Given the description of an element on the screen output the (x, y) to click on. 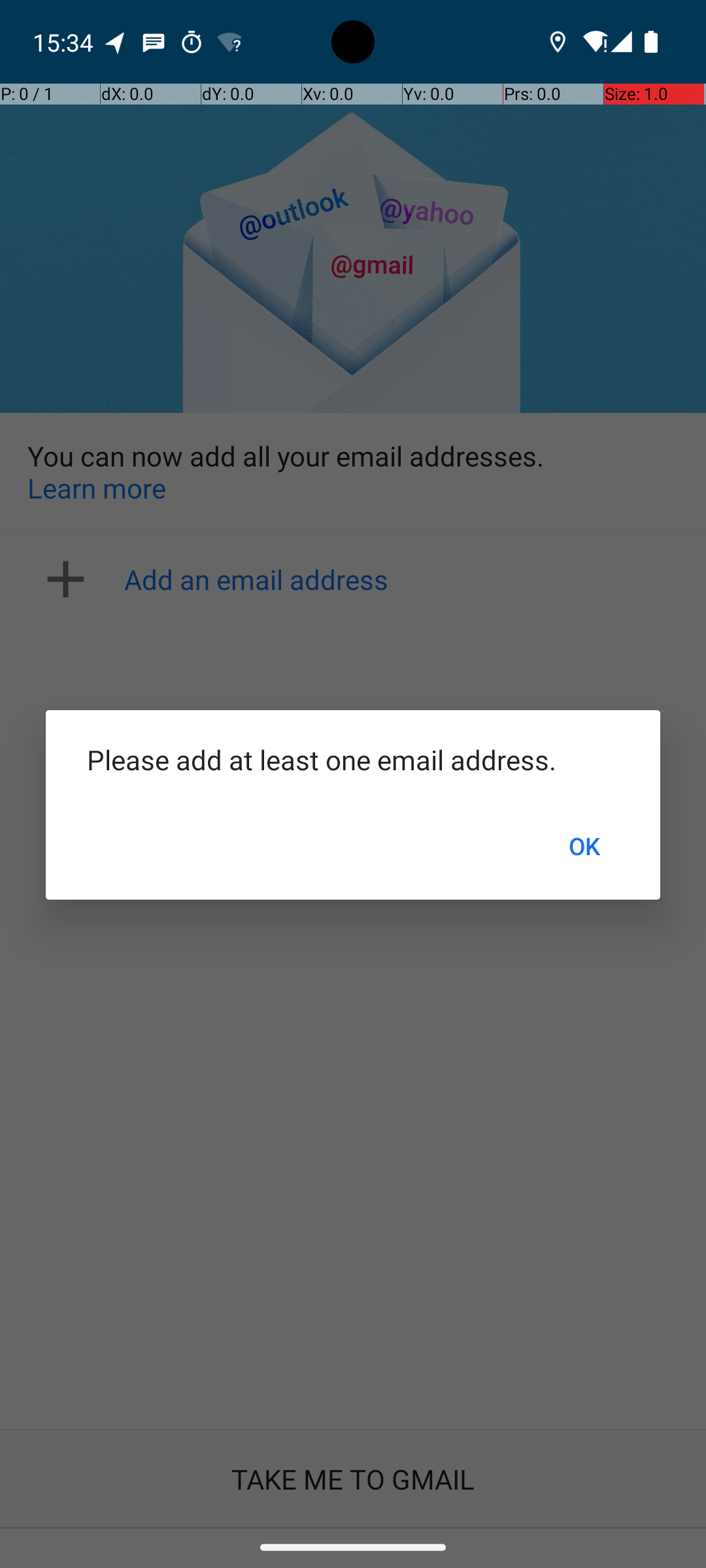
Please add at least one email address. Element type: android.widget.TextView (352, 759)
